Given the description of an element on the screen output the (x, y) to click on. 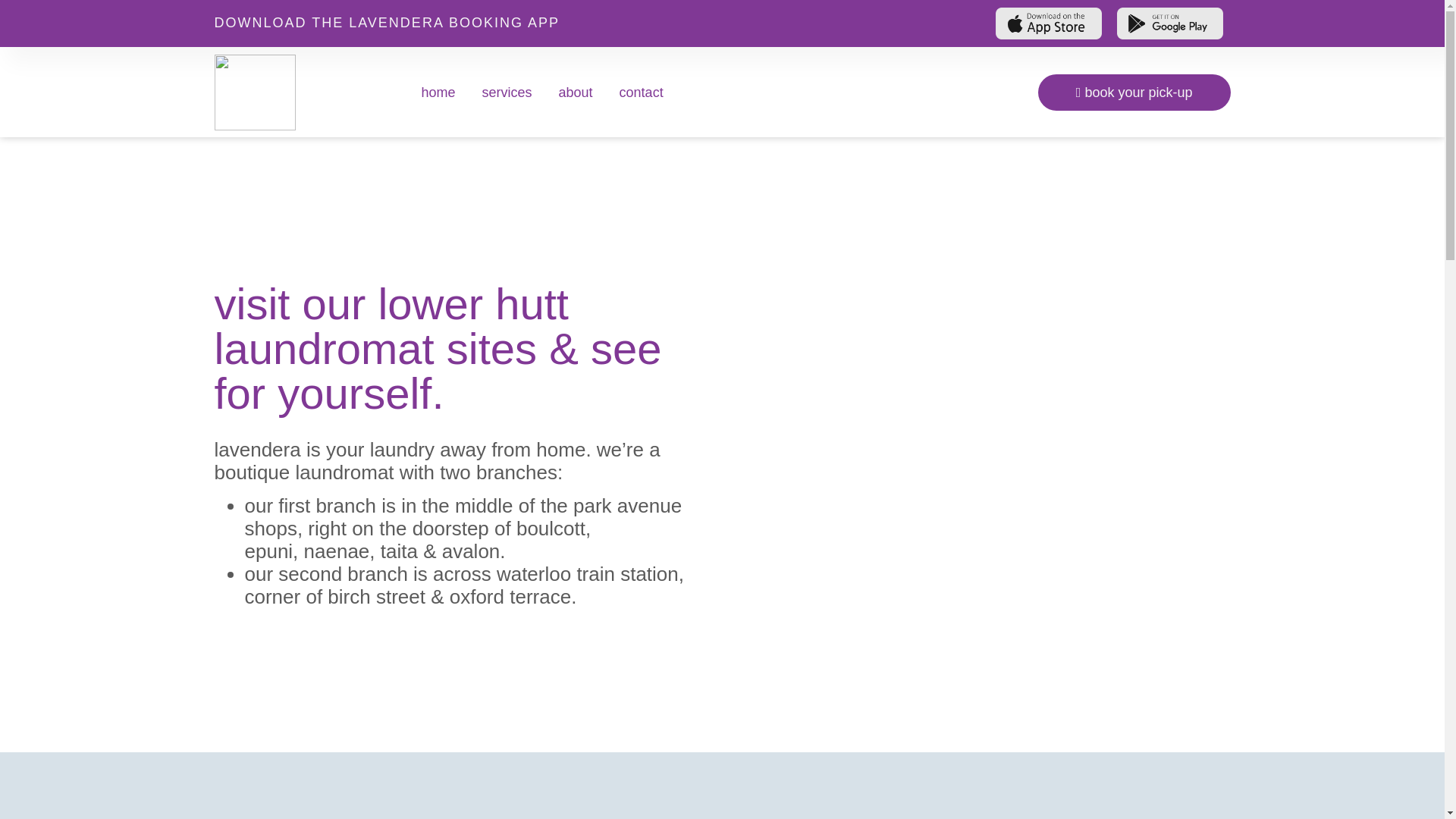
about (575, 92)
home (437, 92)
contact (640, 92)
lavendera 51 birch street, hutt central (985, 566)
lavendera 796B High Street, Lower Hutt (985, 323)
services (507, 92)
book your pick-up (1134, 92)
